Given the description of an element on the screen output the (x, y) to click on. 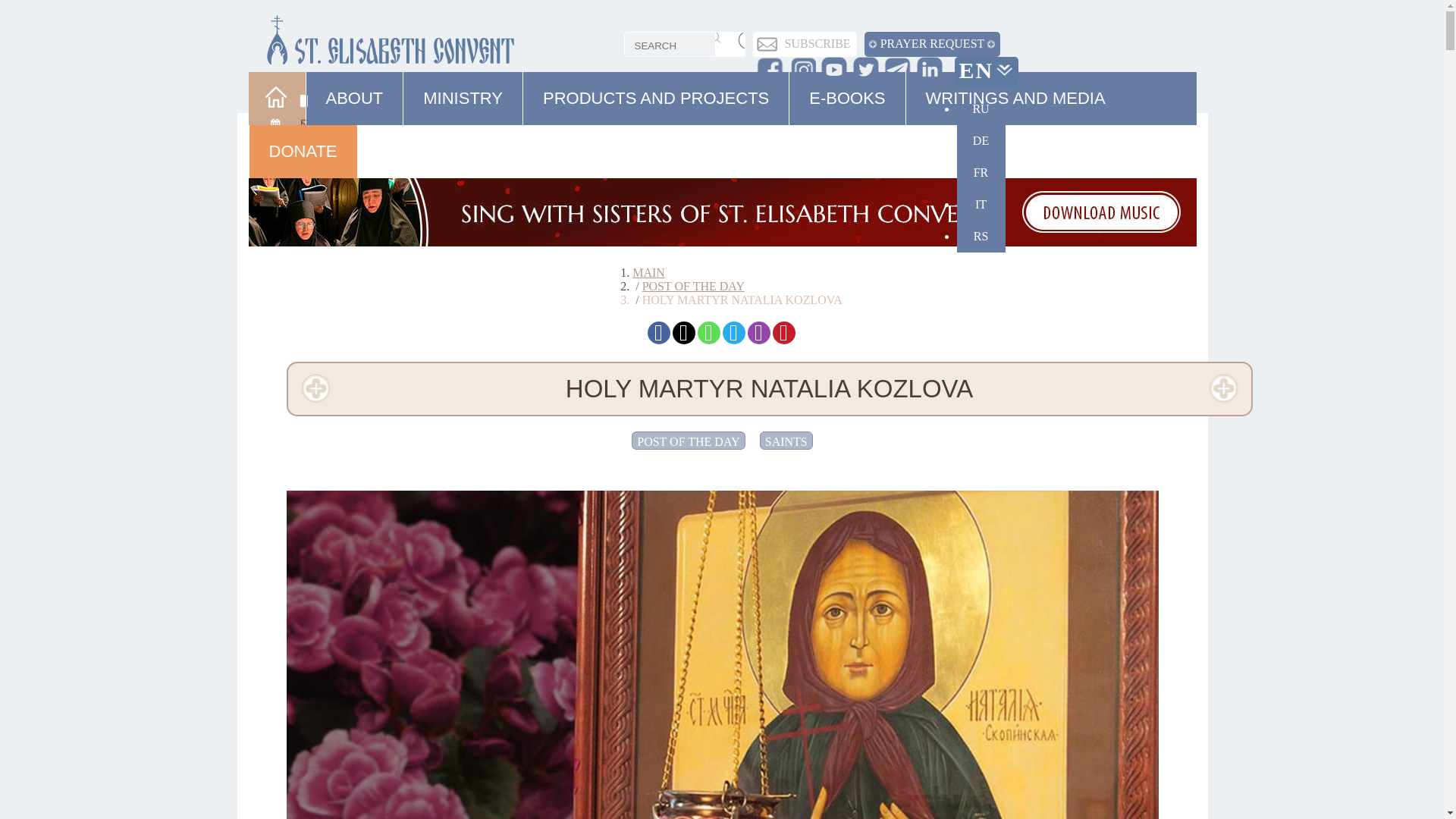
Share Facebook (658, 332)
ABOUT (354, 107)
EN (986, 69)
IT (981, 204)
Share WhatsApp (708, 332)
FR (981, 173)
Home (279, 106)
MINISTRY (462, 107)
PRODUCTS AND PROJECTS (655, 107)
Post of the day (693, 286)
Share Telegram (733, 332)
RU (981, 109)
DE (981, 141)
SUBSCRIBE (817, 43)
Share Viber (759, 332)
